Given the description of an element on the screen output the (x, y) to click on. 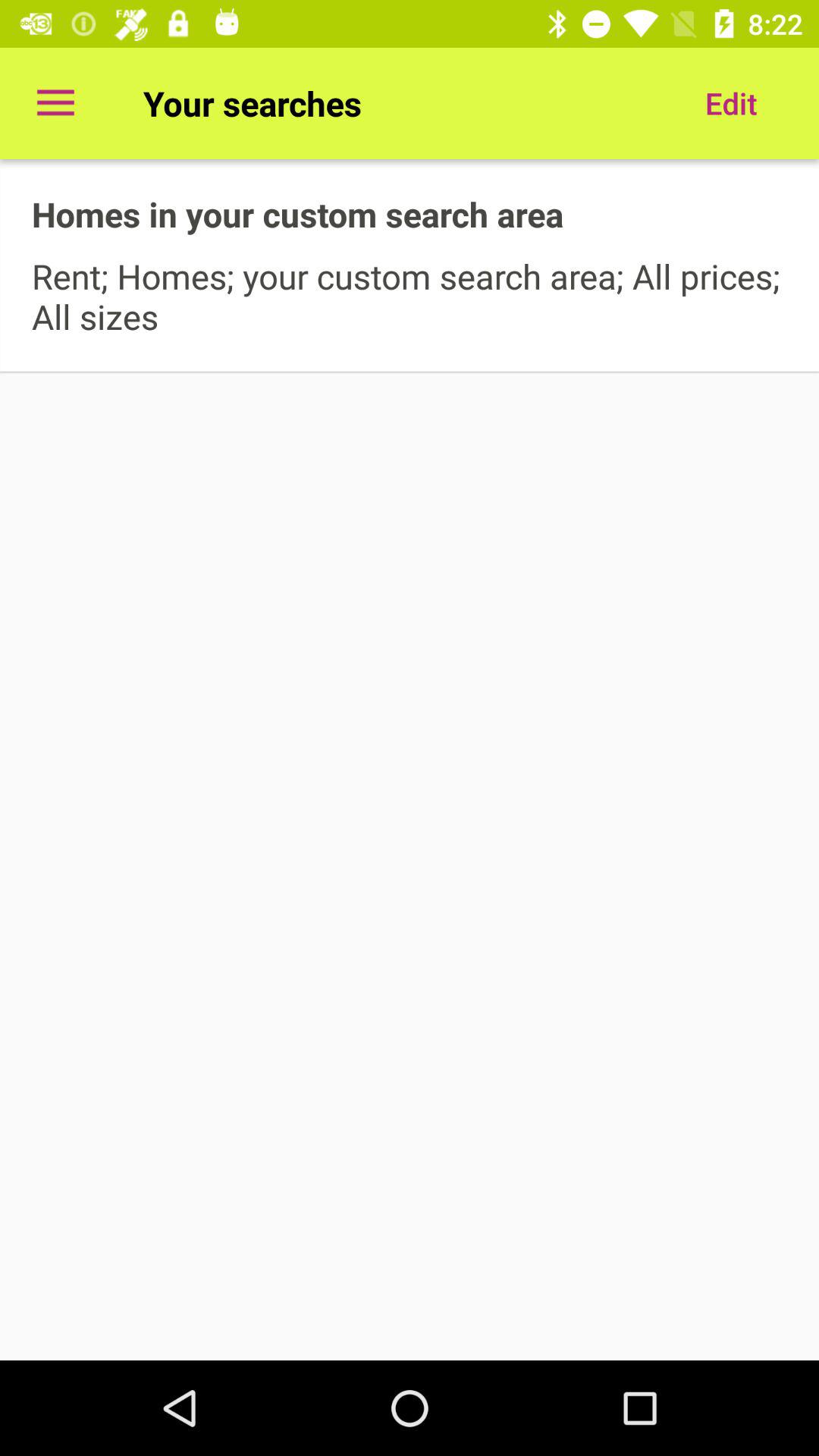
choose the item above homes in your icon (55, 103)
